Given the description of an element on the screen output the (x, y) to click on. 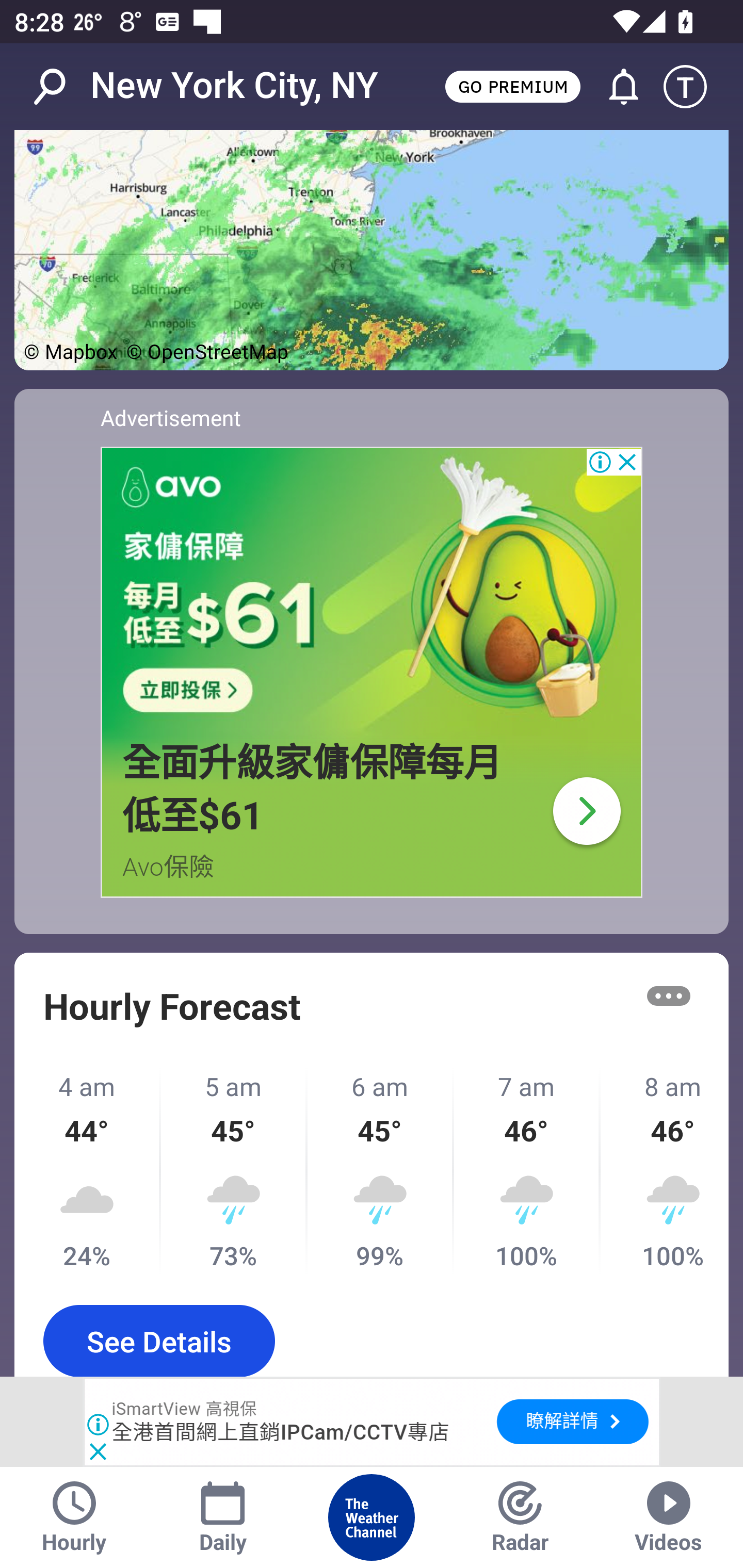
Search (59, 86)
Go to Alerts and Notifications (614, 86)
Setting icon T (694, 86)
New York City, NY (234, 85)
GO PREMIUM (512, 85)
See Map Details (371, 250)
helper (371, 591)
全面升級家傭保障每月 低至$61 全面升級家傭保障每月 低至$61 (312, 789)
helper (586, 809)
Avo保險 (169, 866)
More options (668, 996)
4 am 44° 24% (87, 1171)
5 am 45° 73% (234, 1171)
6 am 45° 99% (380, 1171)
7 am 46° 100% (526, 1171)
8 am 46° 100% (664, 1171)
See Details (158, 1340)
iSmartView 高視保 (184, 1409)
瞭解詳情 (572, 1421)
全港首間網上直銷IPCam/CCTV專店 (281, 1432)
Hourly Tab Hourly (74, 1517)
Daily Tab Daily (222, 1517)
Radar Tab Radar (519, 1517)
Videos Tab Videos (668, 1517)
